Given the description of an element on the screen output the (x, y) to click on. 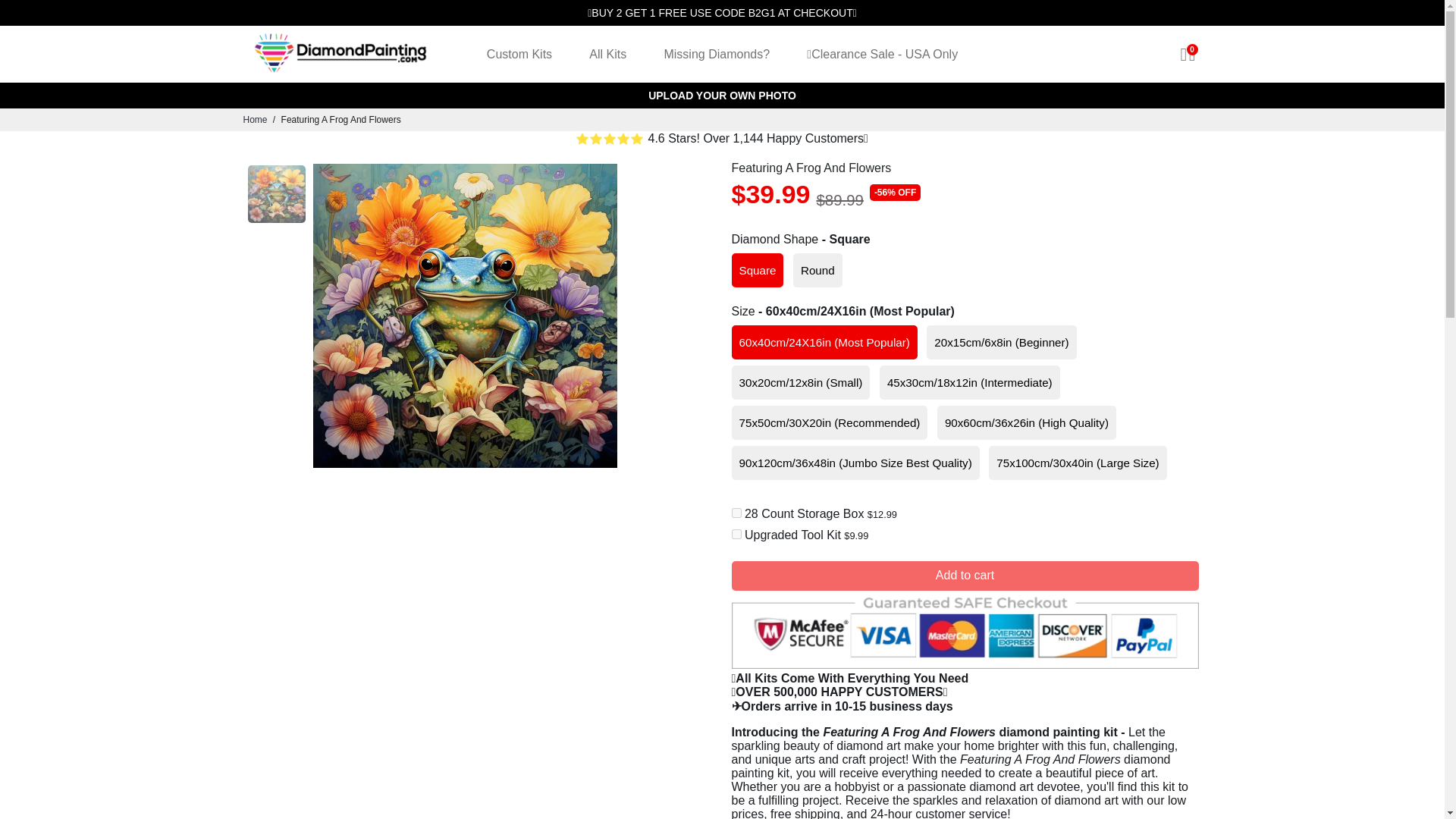
Custom Diamond Painting (721, 95)
Add to cart (964, 575)
UPLOAD YOUR OWN PHOTO (721, 95)
on (735, 533)
All Kits (607, 53)
Home (254, 119)
Custom Kits (519, 53)
on (735, 512)
Missing Diamonds? (715, 53)
Home (254, 119)
